Given the description of an element on the screen output the (x, y) to click on. 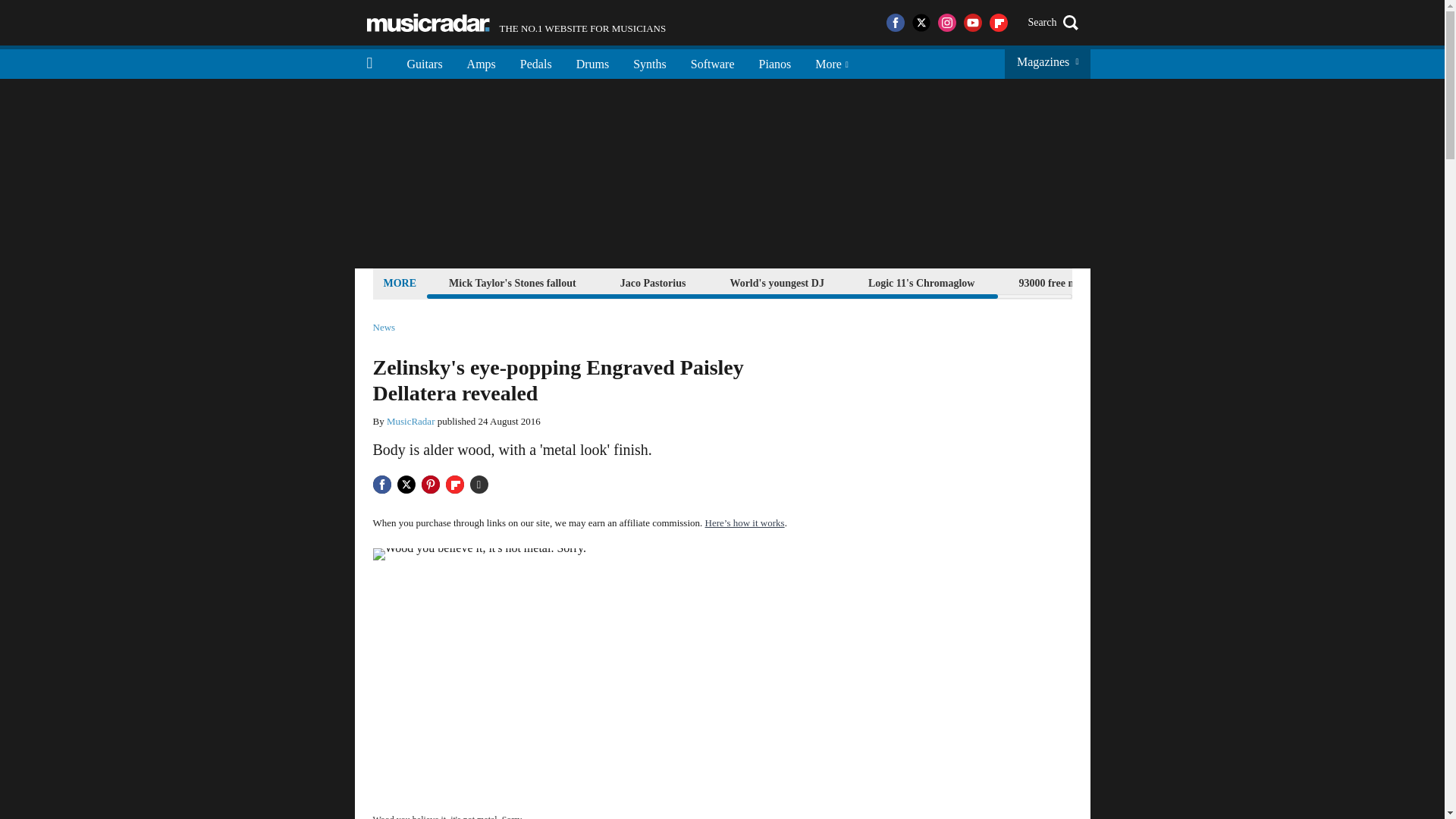
Jaco Pastorius (652, 282)
Music Radar (516, 22)
Mick Taylor's Stones fallout (427, 22)
Pedals (512, 282)
Guitars (536, 61)
Software (424, 61)
Logic 11's Chromaglow (712, 61)
Amps (921, 282)
93000 free music samples (481, 61)
World's youngest DJ (1075, 282)
Drums (775, 282)
Pianos (592, 61)
Synths (774, 61)
